Given the description of an element on the screen output the (x, y) to click on. 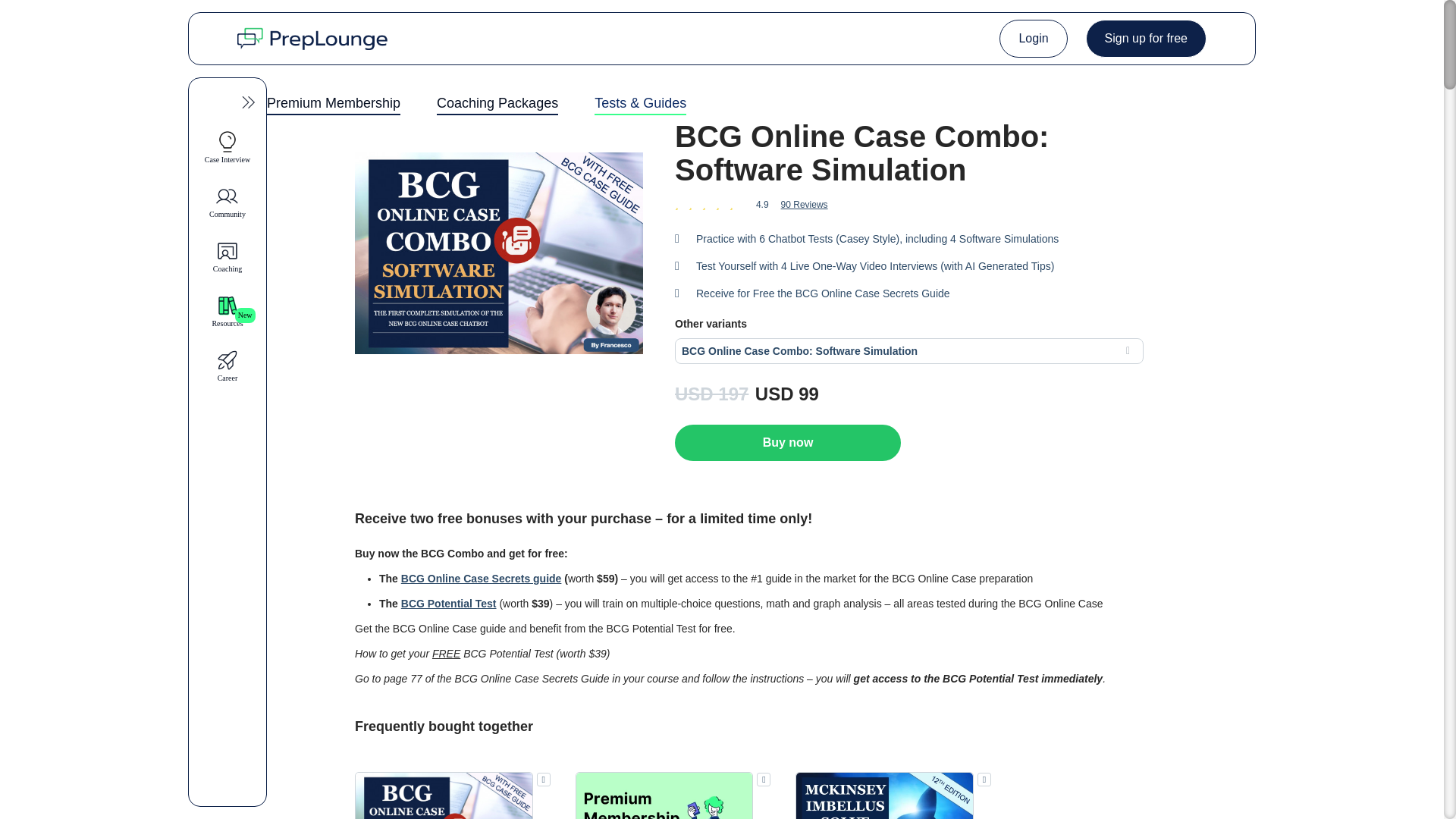
Case Interview (227, 147)
Sign up for free (1146, 38)
Community (227, 202)
Login (1032, 38)
